Given the description of an element on the screen output the (x, y) to click on. 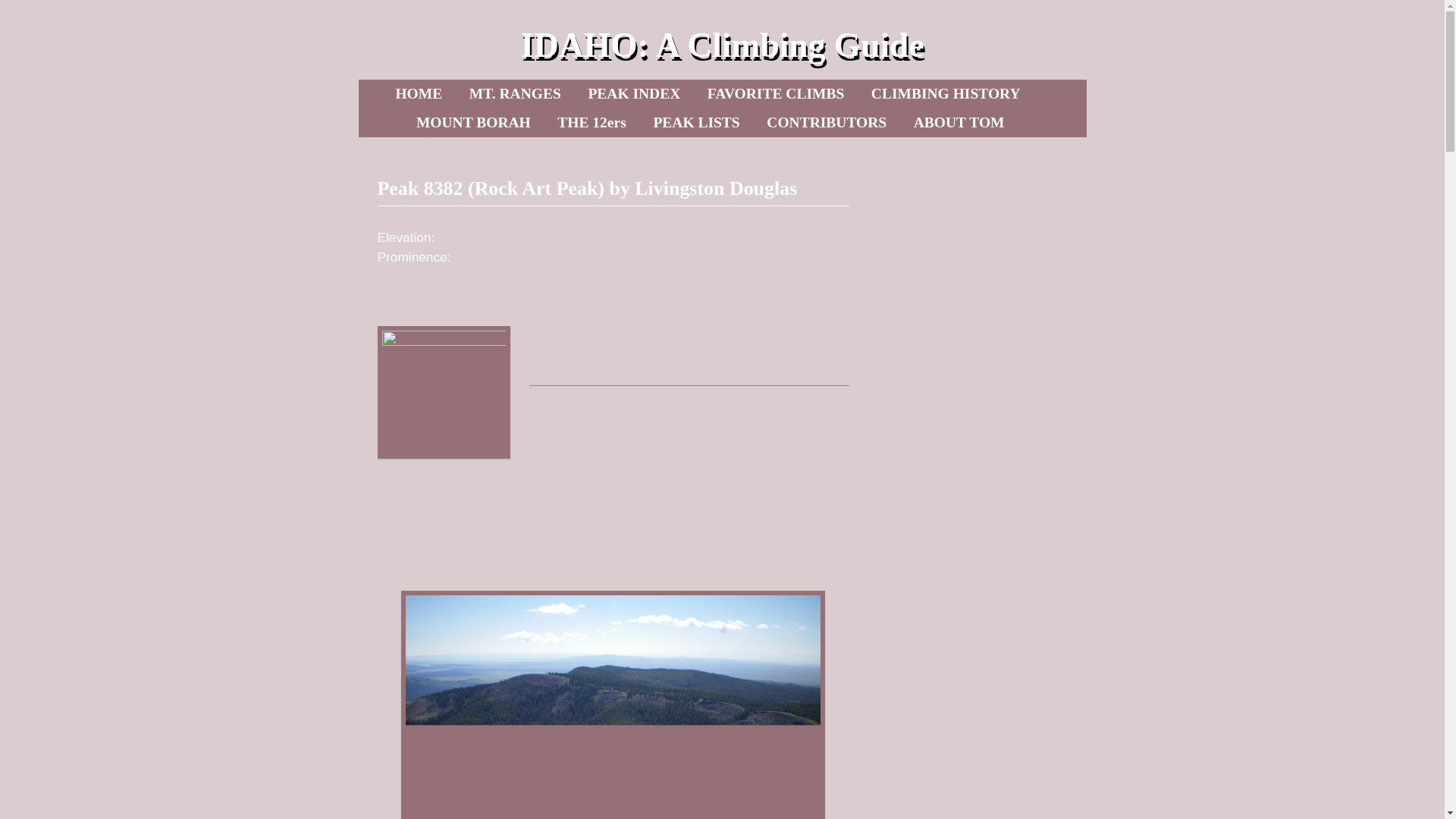
ABOUT TOM (958, 122)
Find Nearby Peaks (436, 296)
CLIMBING HISTORY (945, 93)
THE 12ers (591, 122)
PEAK LISTS (695, 122)
CONTRIBUTORS (825, 122)
HOME (418, 93)
MT. RANGES (515, 93)
Skip to secondary content (463, 93)
Skip to primary content (457, 93)
